Given the description of an element on the screen output the (x, y) to click on. 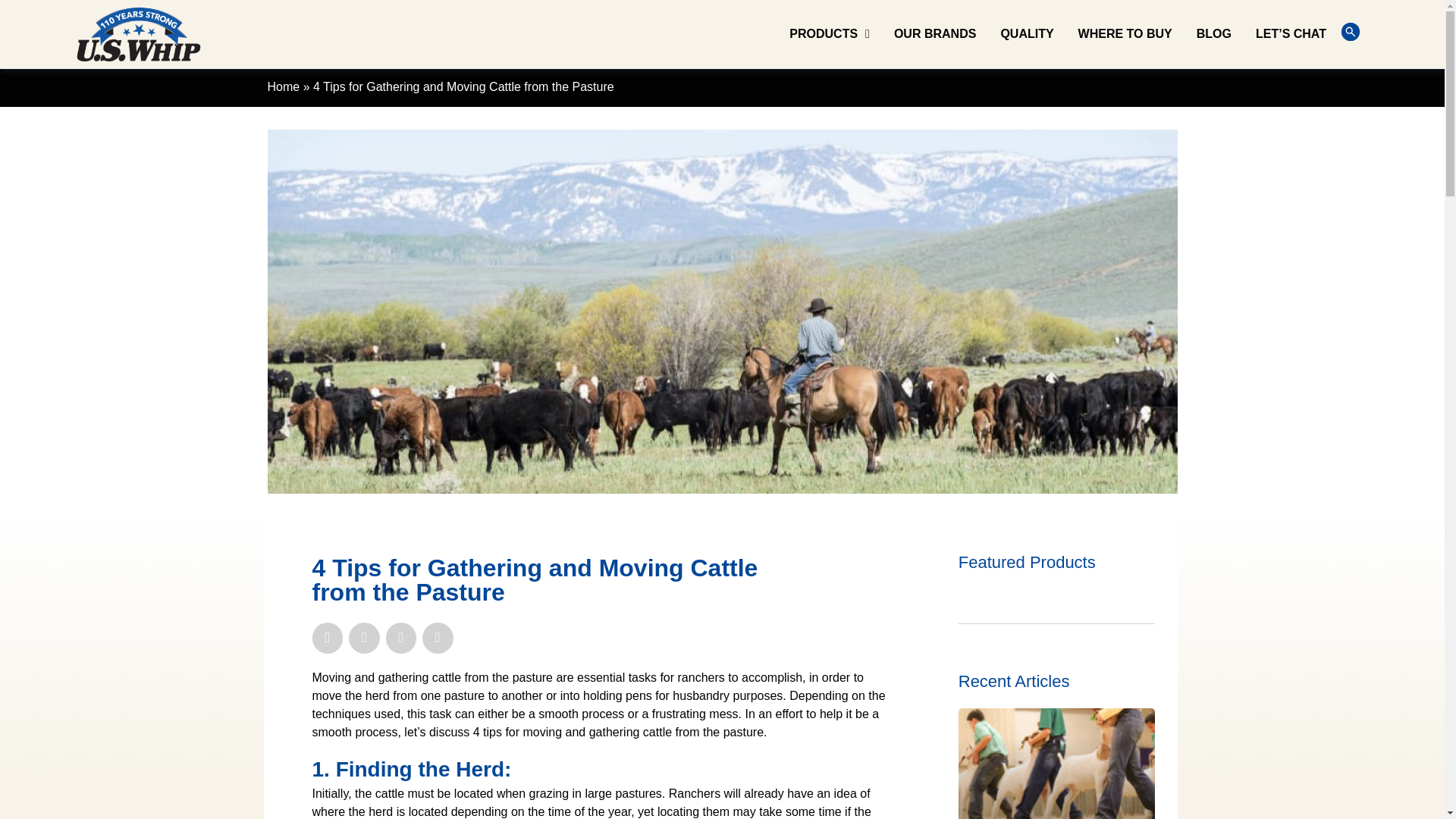
BLOG (1214, 33)
WHERE TO BUY (1125, 33)
PRODUCTS (828, 33)
QUALITY (1026, 33)
OUR BRANDS (934, 33)
